Given the description of an element on the screen output the (x, y) to click on. 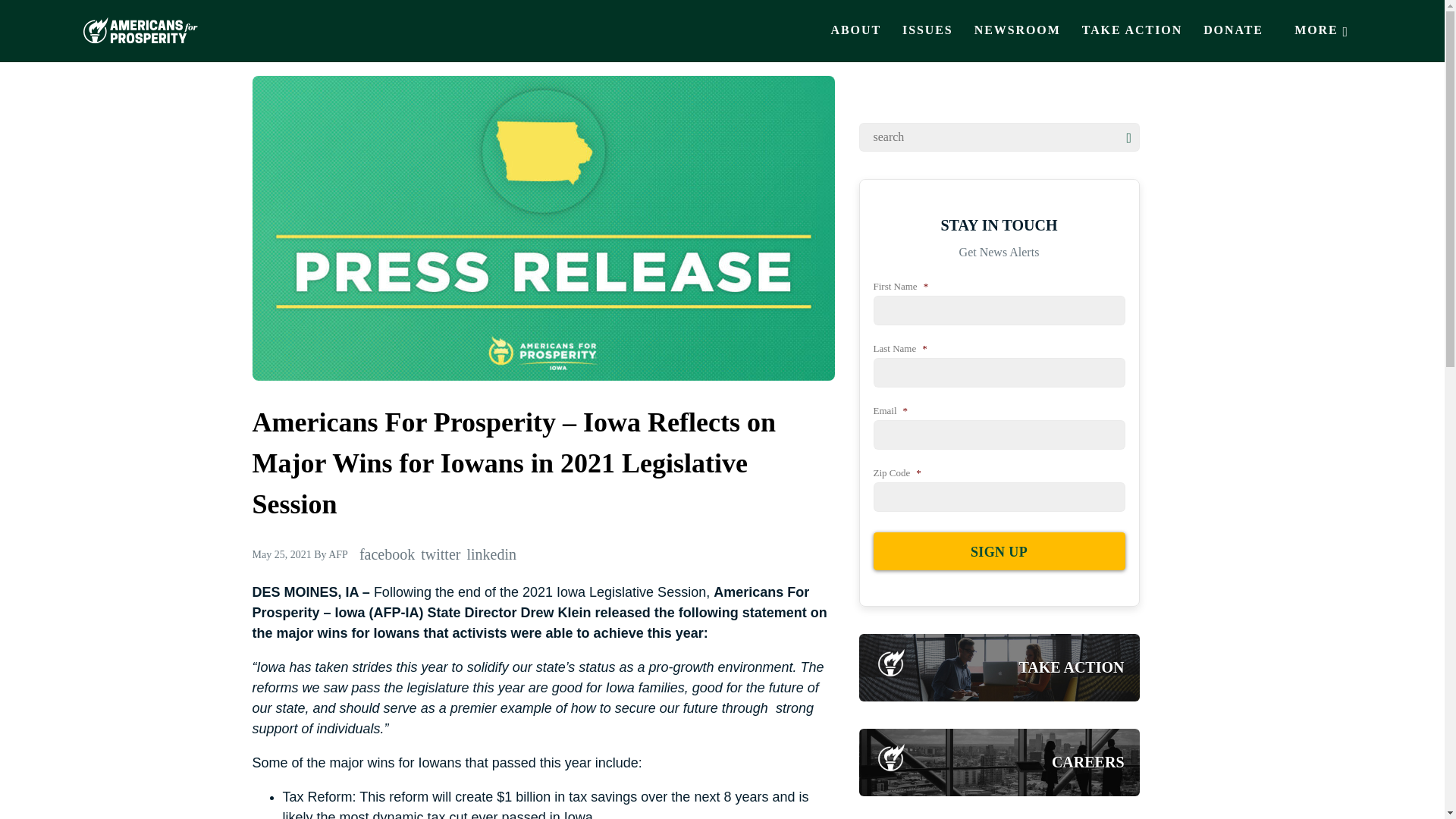
DONATE (1233, 30)
TAKE ACTION (1131, 30)
Sign Up (999, 551)
MORE (1323, 30)
NEWSROOM (1017, 30)
ISSUES (927, 30)
Share on LinkedIn (491, 553)
Americans for Prosperity (140, 30)
Share on Twitter (440, 553)
Share on Facebook (386, 553)
ABOUT (856, 30)
